Given the description of an element on the screen output the (x, y) to click on. 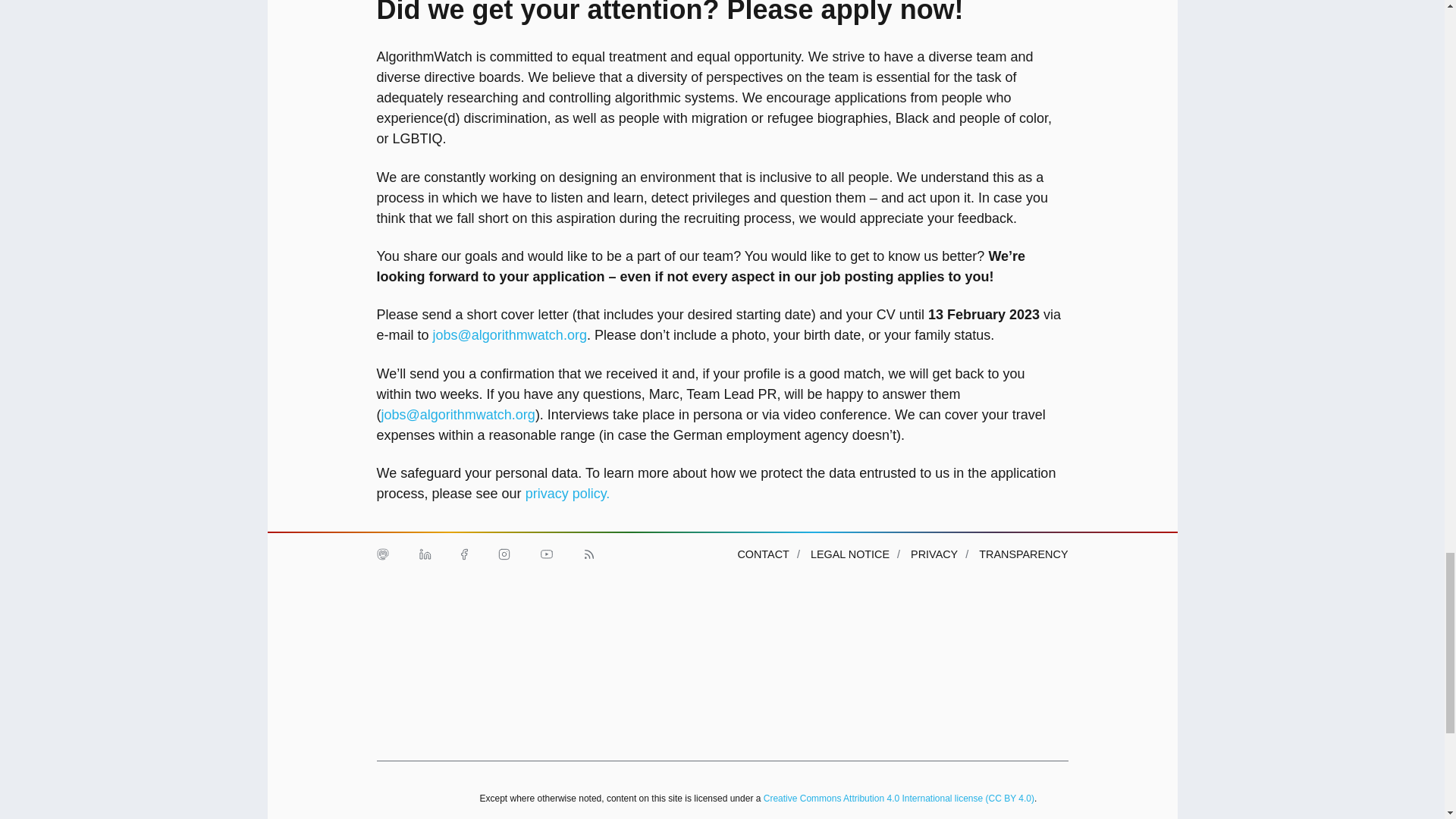
European AI Fund (783, 621)
Mercator (1032, 621)
RSS Feed (588, 554)
Alfred Landecker Foundation (410, 621)
Instagram (502, 554)
Youtube (545, 554)
Civitates (535, 621)
privacy policy. (567, 493)
Deutsche Postcode Lotterie (659, 621)
Robert Bosch Stiftung (410, 714)
LinkedIn (424, 554)
Luminate (908, 621)
